Given the description of an element on the screen output the (x, y) to click on. 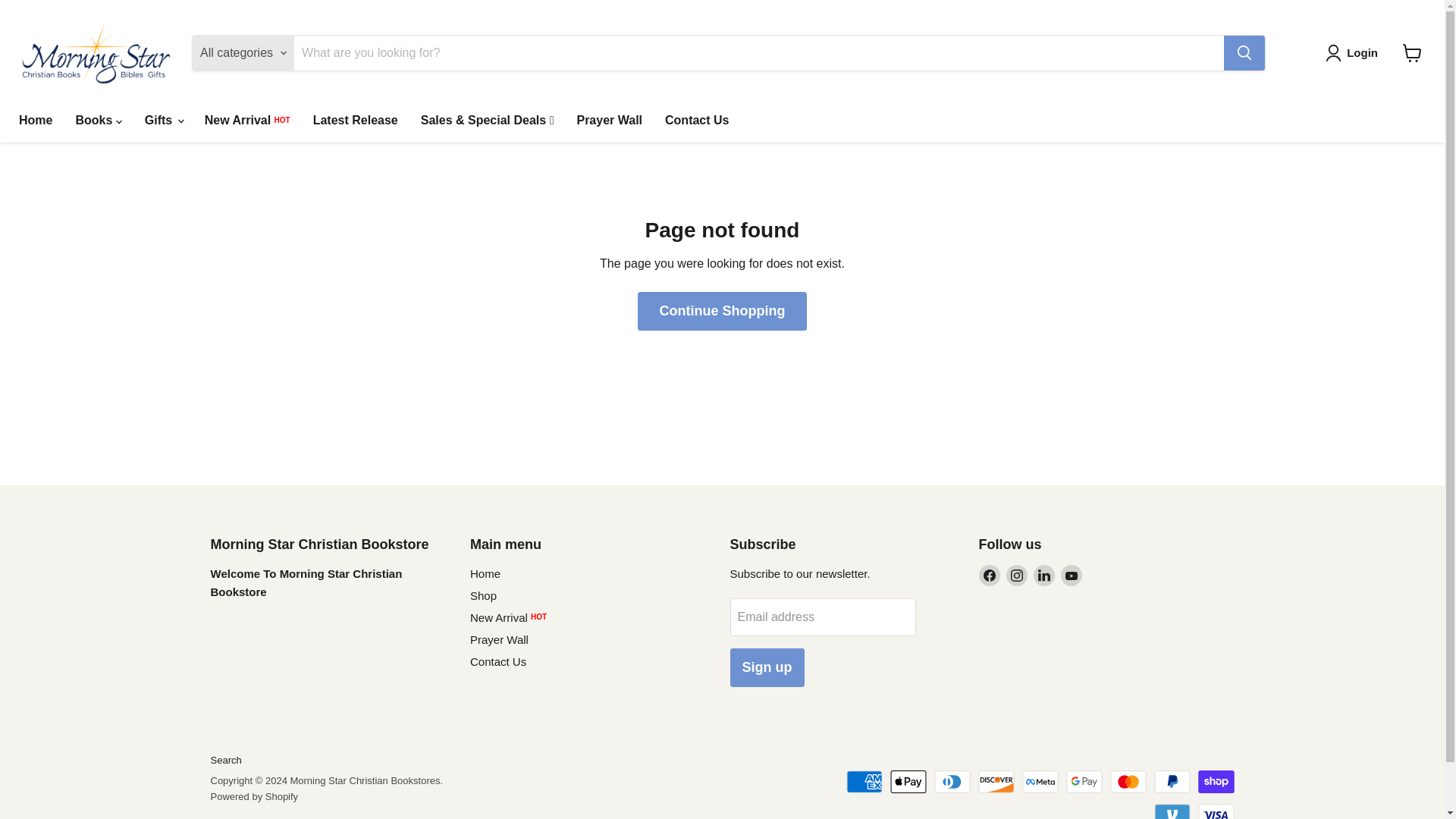
View cart (1411, 52)
Prayer Wall (608, 120)
Venmo (1172, 811)
Google Pay (1083, 781)
New Arrival HOT (247, 120)
Contact Us (696, 120)
YouTube (1070, 575)
Apple Pay (907, 781)
Latest Release (355, 120)
Facebook (988, 575)
